Given the description of an element on the screen output the (x, y) to click on. 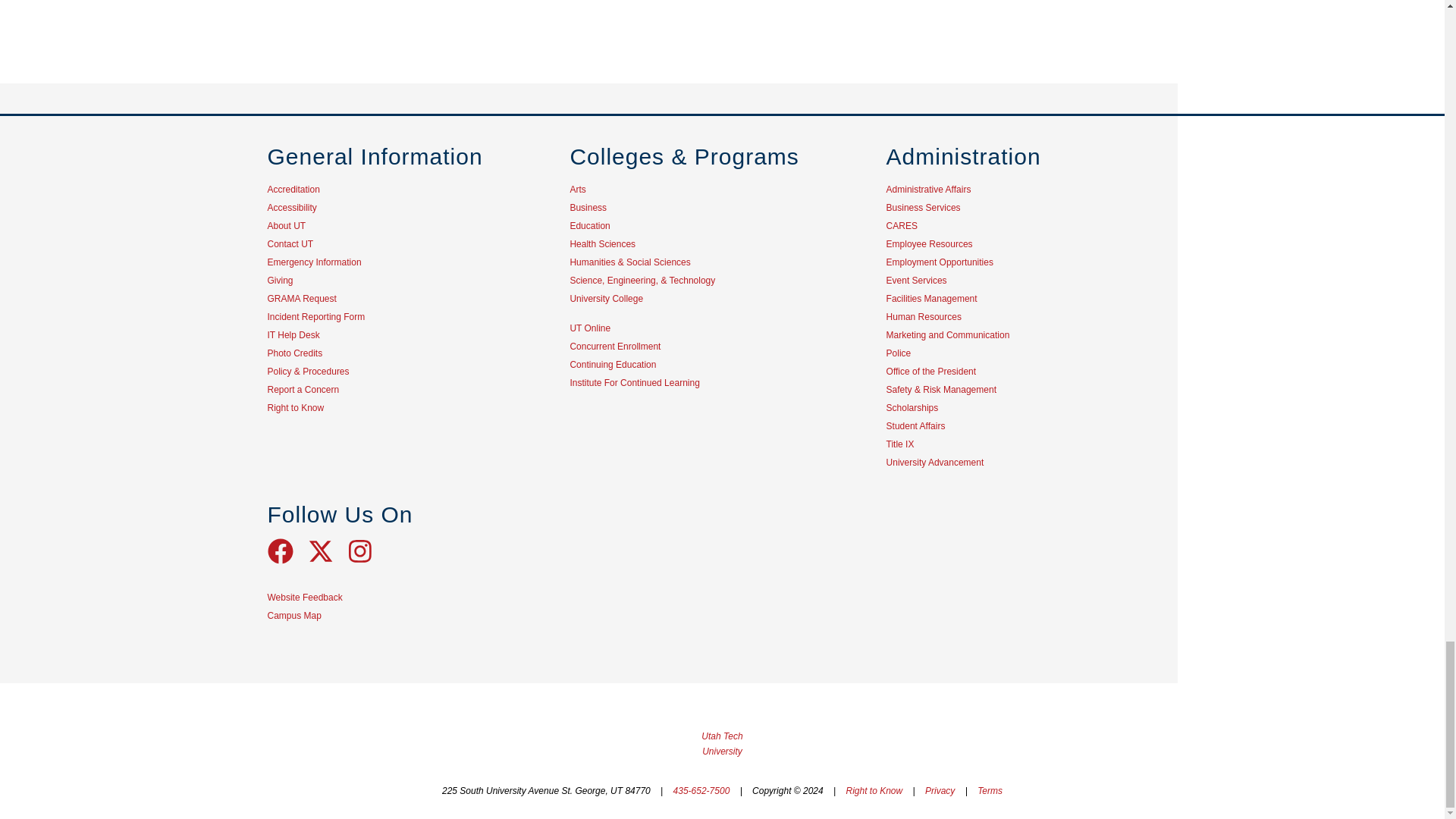
Visit our Instagram page (365, 559)
Visit our Twitter page (328, 559)
Visit our Facebook page (286, 559)
